Given the description of an element on the screen output the (x, y) to click on. 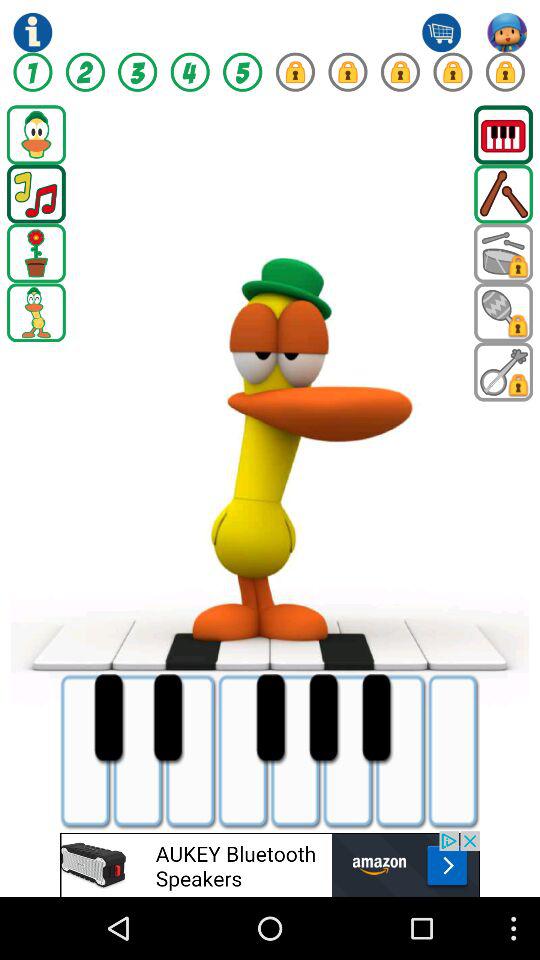
flower (36, 253)
